Given the description of an element on the screen output the (x, y) to click on. 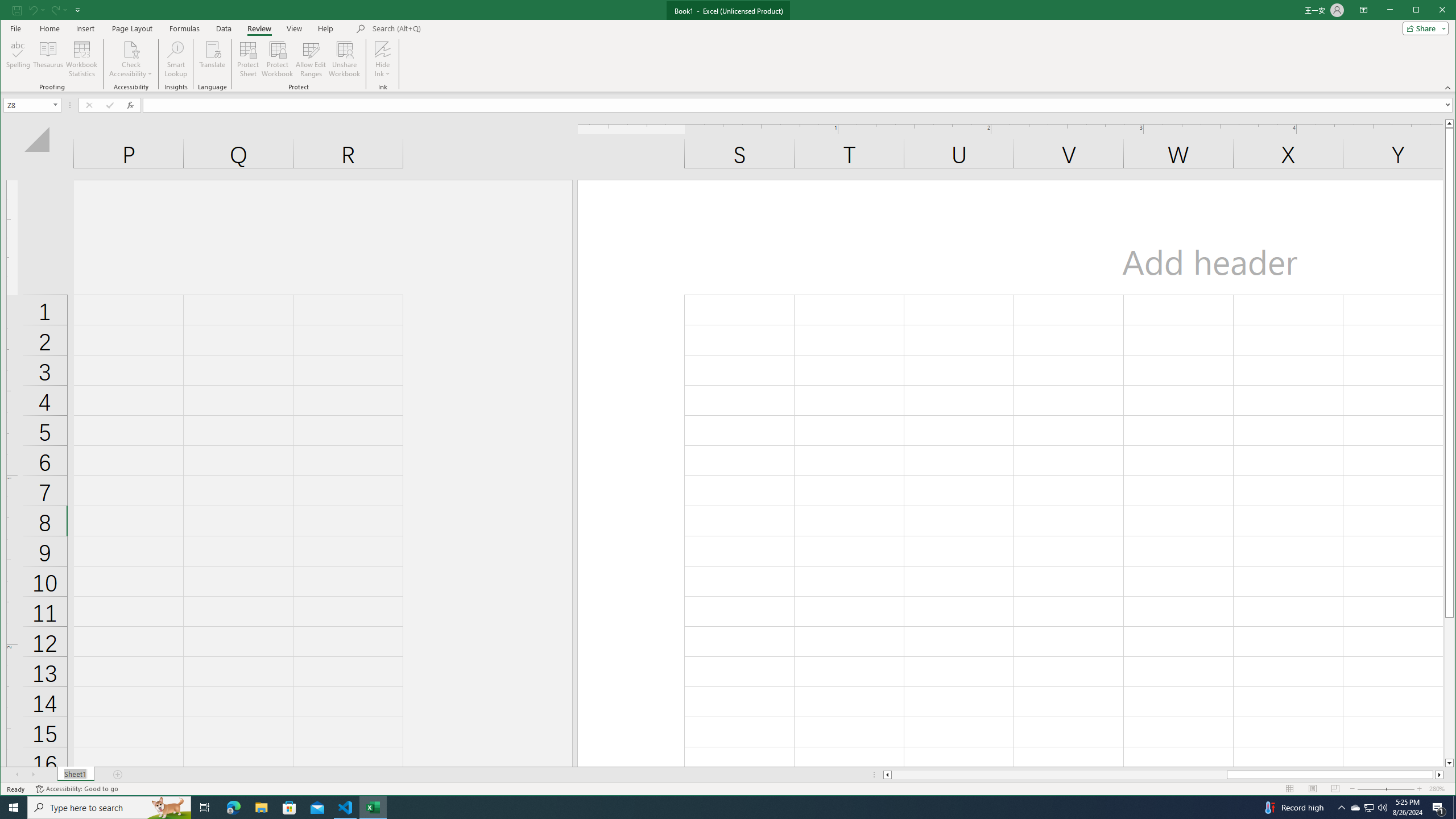
Search highlights icon opens search home window (167, 807)
Record high (1292, 807)
Allow Edit Ranges (310, 59)
User Promoted Notification Area (1368, 807)
Protect Workbook... (277, 59)
Thesaurus... (48, 59)
File Explorer (261, 807)
Start (13, 807)
